Given the description of an element on the screen output the (x, y) to click on. 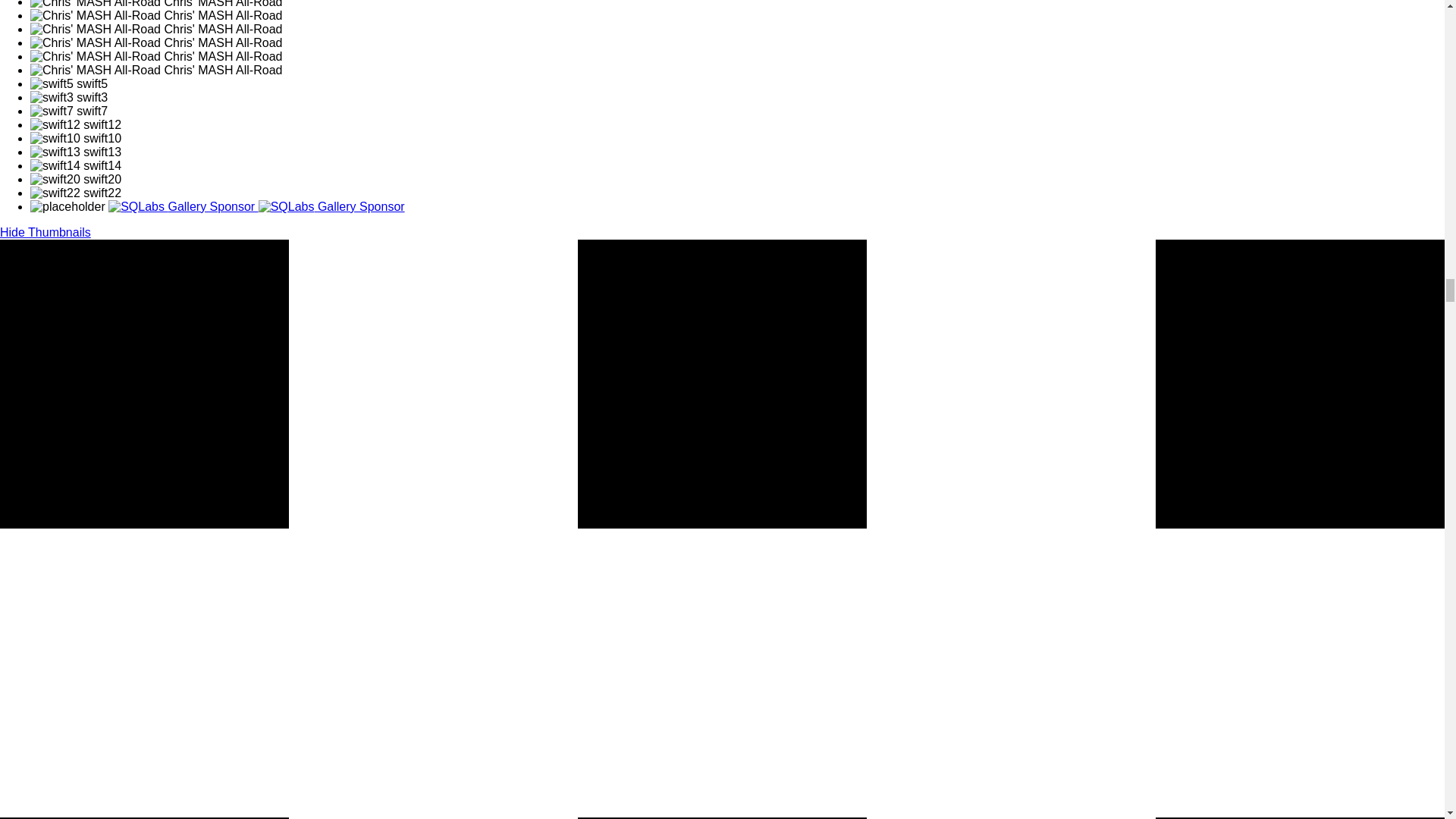
SQLabs (182, 205)
SQLabs (331, 205)
